Given the description of an element on the screen output the (x, y) to click on. 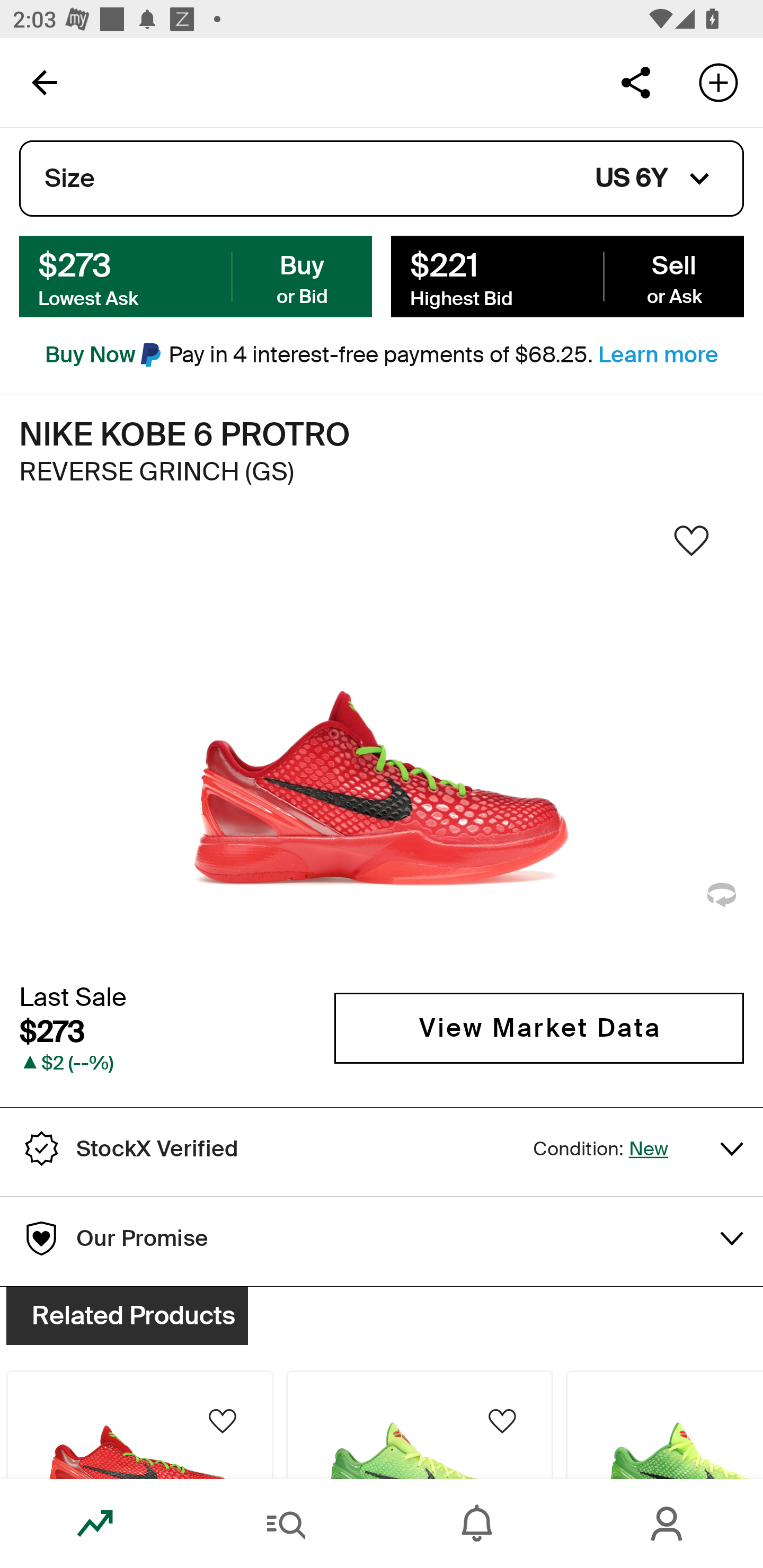
Share (635, 81)
Add (718, 81)
Size US 6Y (381, 178)
$273 Buy Lowest Ask or Bid (195, 275)
$221 Sell Highest Bid or Ask (566, 275)
Sneaker Image (381, 745)
View Market Data (538, 1027)
Search (285, 1523)
Inbox (476, 1523)
Account (667, 1523)
